Given the description of an element on the screen output the (x, y) to click on. 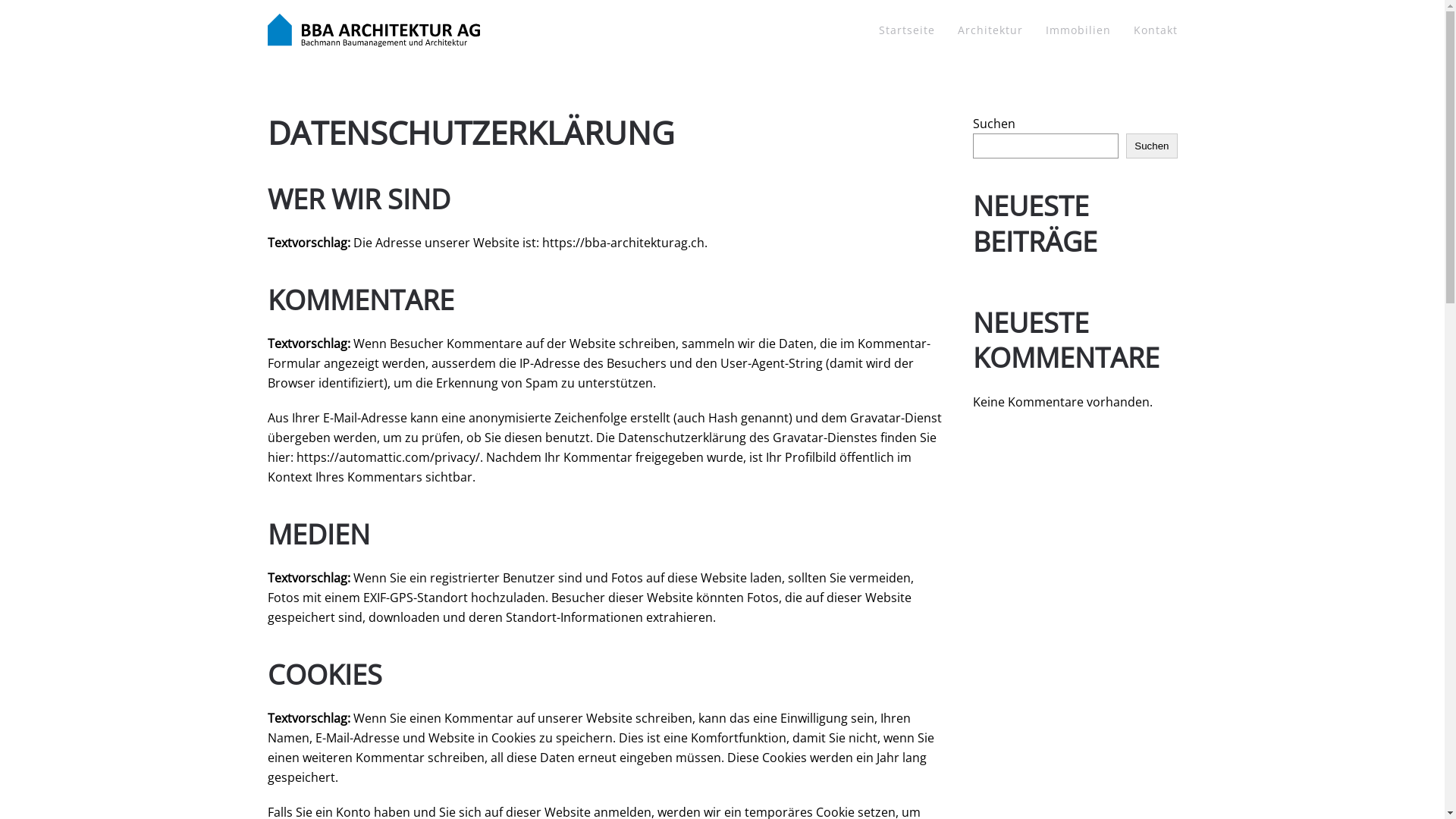
Immobilien Element type: text (1077, 30)
Startseite Element type: text (906, 30)
Suchen Element type: text (1151, 145)
Architektur Element type: text (989, 30)
Kontakt Element type: text (1154, 30)
